Given the description of an element on the screen output the (x, y) to click on. 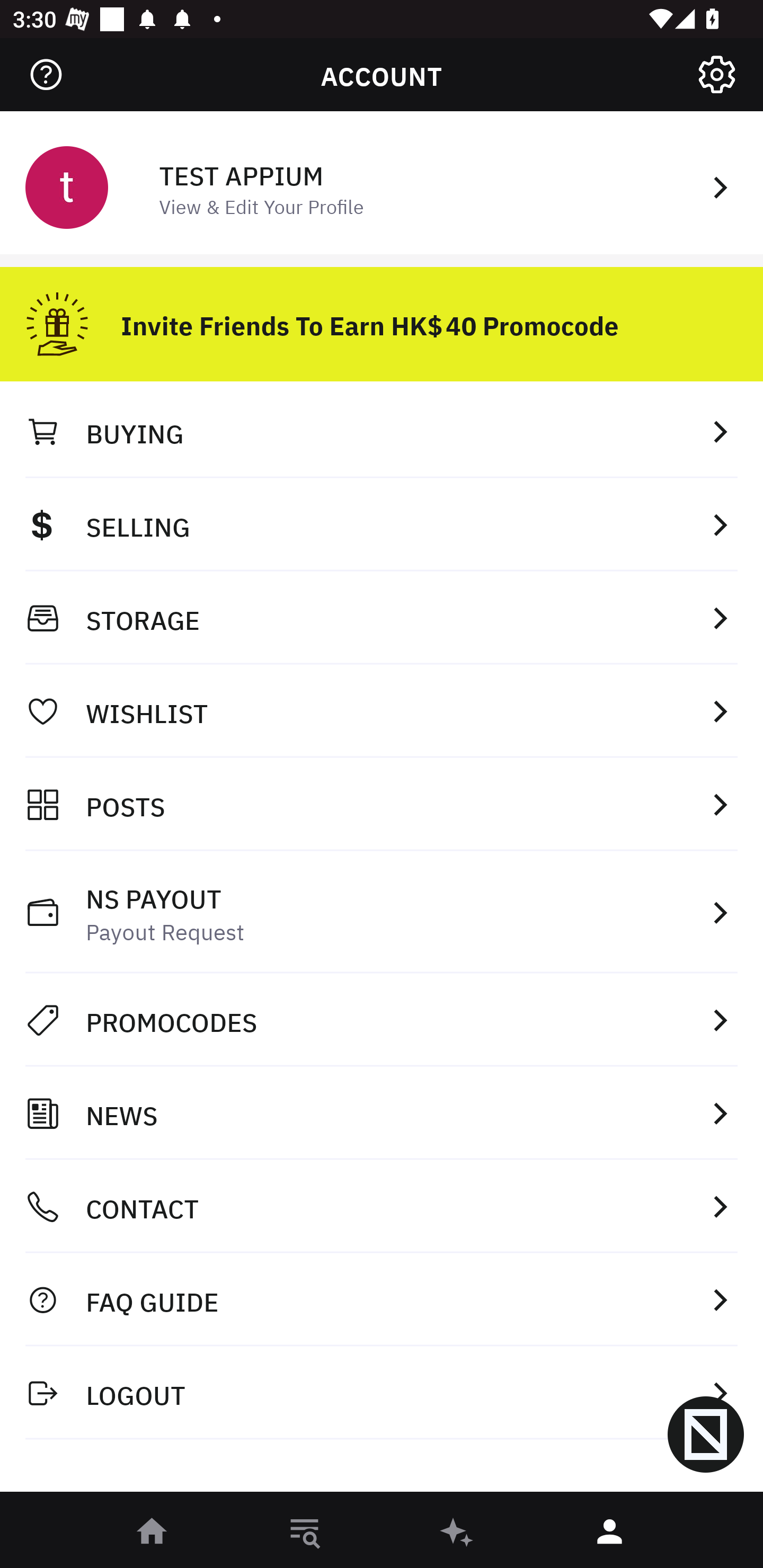
 (46, 74)
 (716, 74)
TEST APPIUM View & Edit Your Profile  (381, 185)
Invite Friends To Earn HK$ 40 Promocode (381, 317)
 BUYING  (381, 431)
 SELLING  (381, 524)
 STORAGE  (381, 617)
 WISHLIST  (381, 710)
 POSTS  (381, 804)
 0 NS PAYOUT Payout Request  (381, 912)
 PROMOCODES  (381, 1019)
 NEWS  (381, 1113)
 CONTACT  (381, 1206)
 FAQ GUIDE  (381, 1298)
 LOGOUT  (381, 1392)
󰋜 (152, 1532)
󱎸 (305, 1532)
󰫢 (457, 1532)
󰀄 (610, 1532)
